Given the description of an element on the screen output the (x, y) to click on. 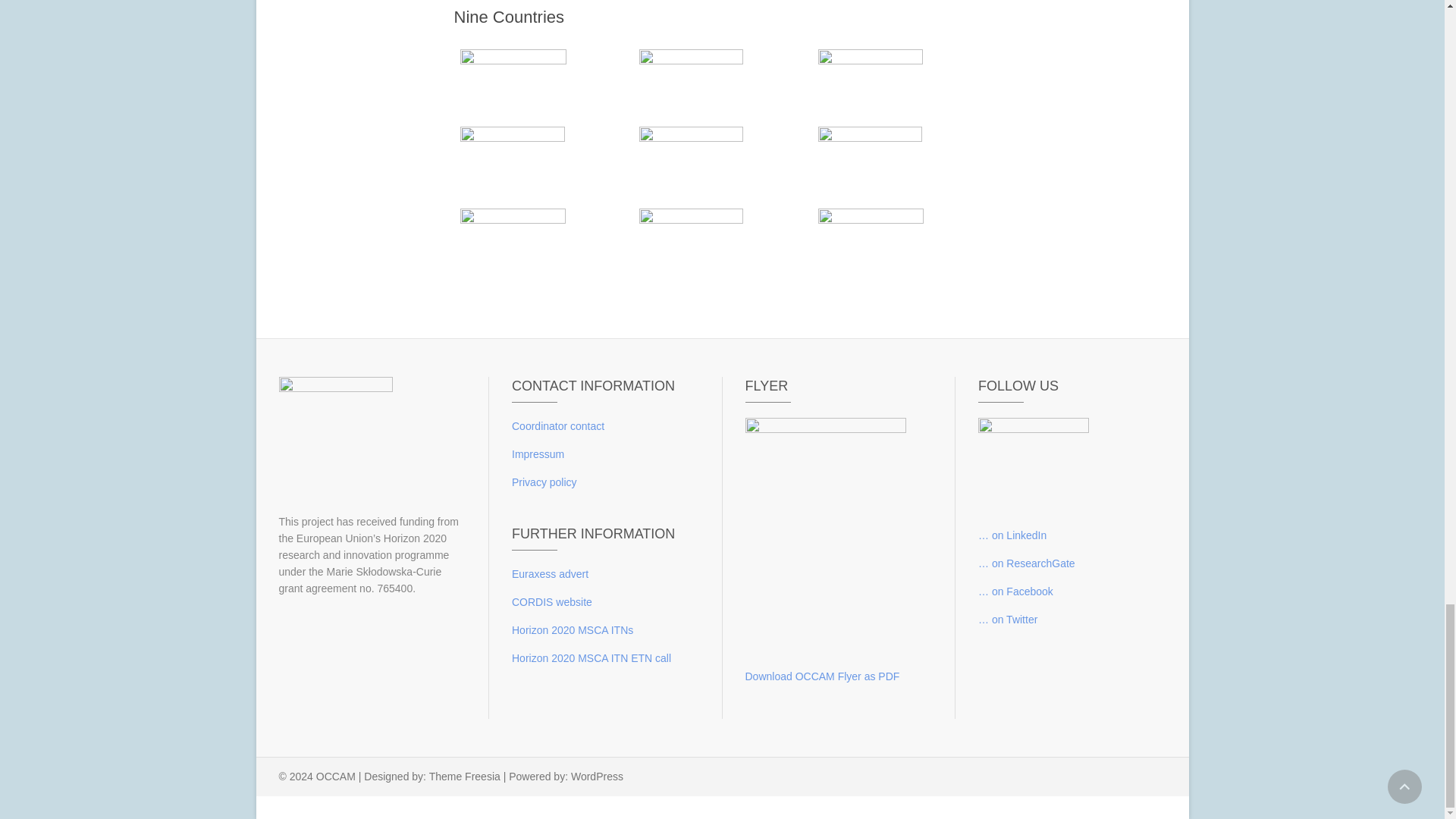
Euraxess advert (550, 573)
OCCAM (335, 776)
WordPress (596, 776)
Impressum (538, 453)
Coordinator contact (558, 426)
Privacy policy (544, 481)
Themefreesia (464, 776)
